Given the description of an element on the screen output the (x, y) to click on. 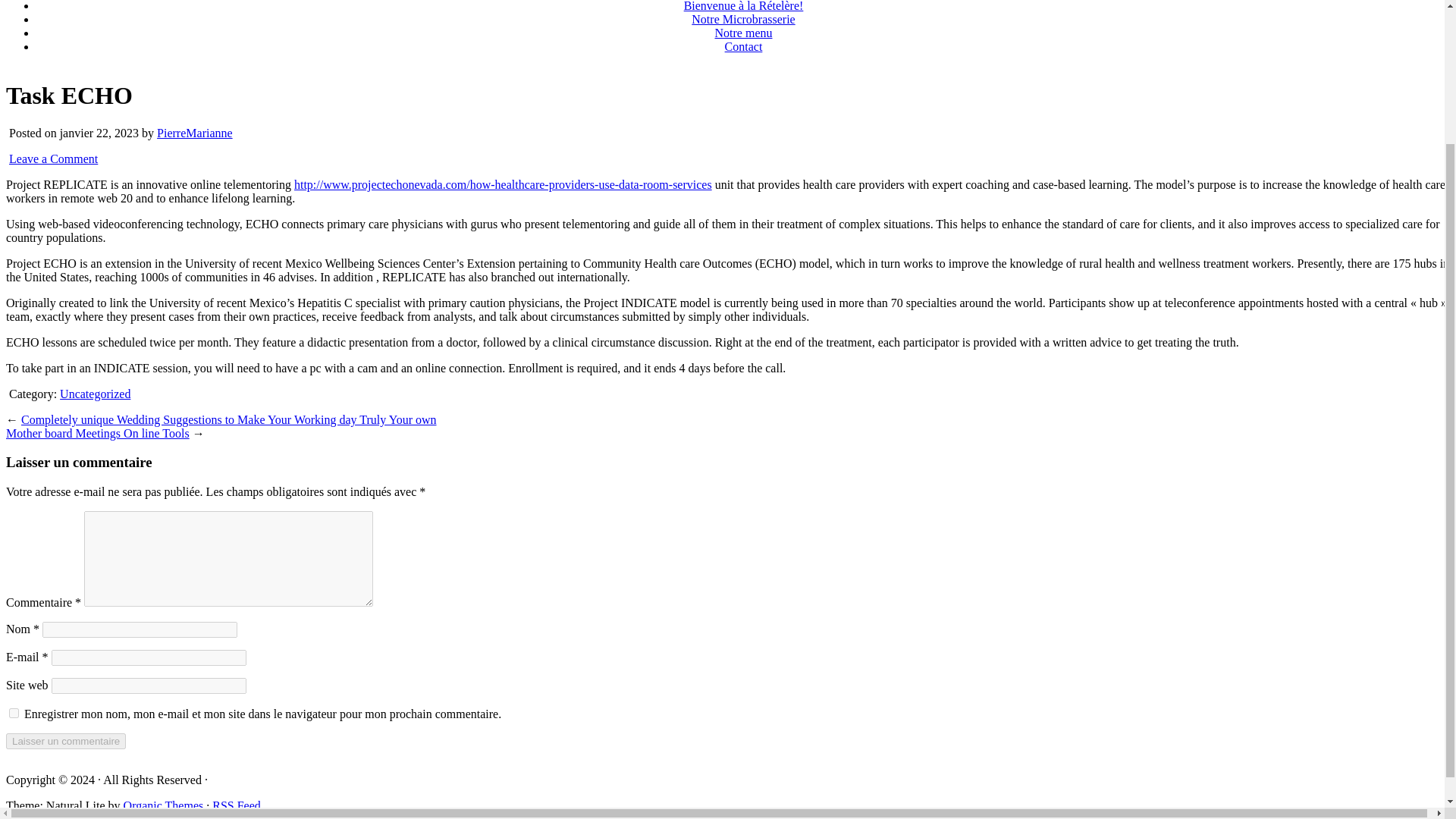
Articles par PierreMarianne (194, 132)
Laisser un commentaire (65, 741)
PierreMarianne (194, 132)
Notre menu (742, 32)
yes (13, 713)
Contact (743, 46)
Leave a Comment (52, 158)
Notre Microbrasserie (742, 19)
Leave a Comment (52, 158)
Mother board Meetings On line Tools (97, 432)
Laisser un commentaire (65, 741)
RSS Feed (236, 805)
Organic Themes (163, 805)
Uncategorized (95, 393)
